Given the description of an element on the screen output the (x, y) to click on. 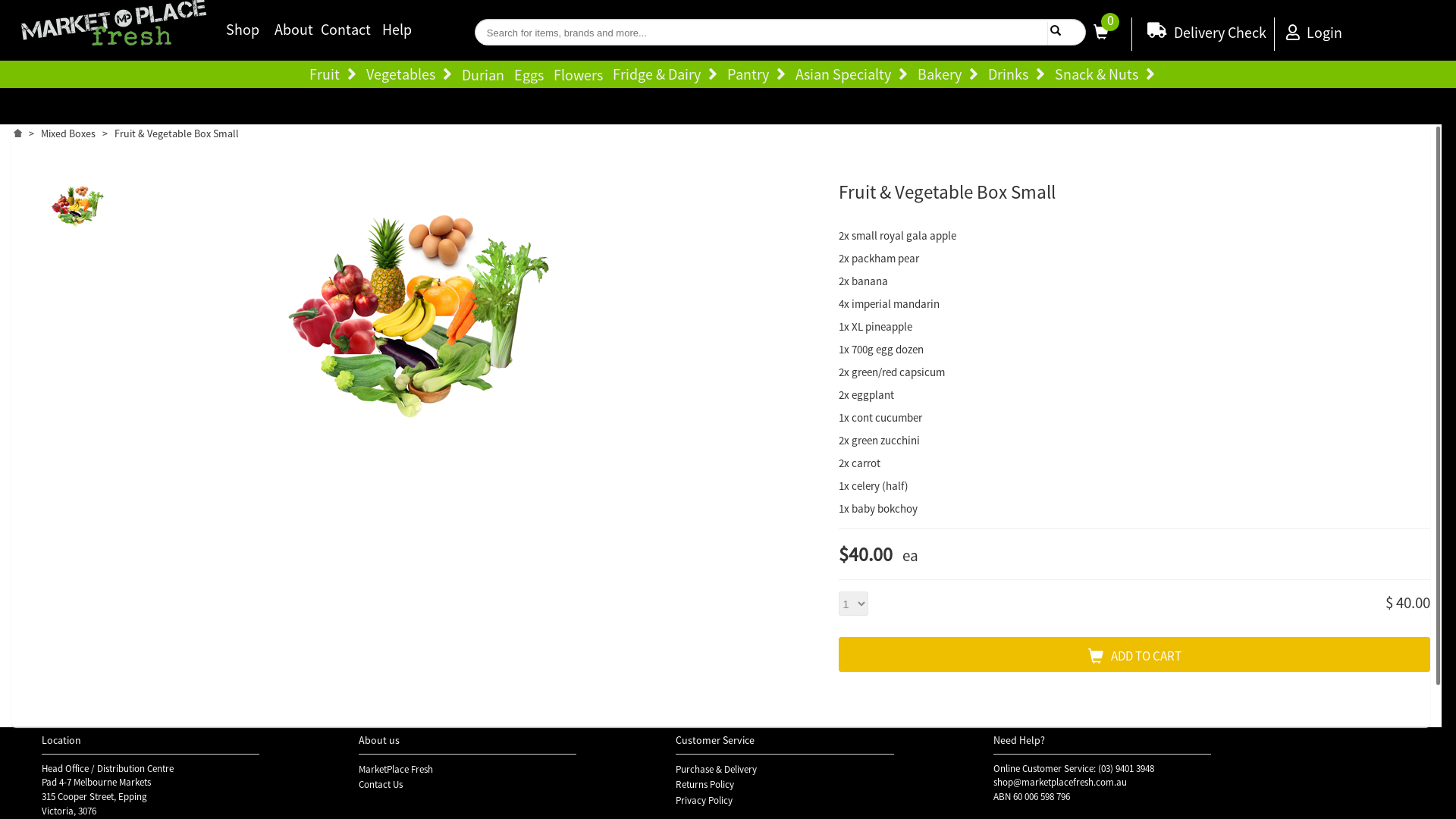
Durian Element type: text (486, 73)
Shop Element type: text (242, 28)
Purchase & Delivery Element type: text (715, 768)
shop@marketplacefresh.com.au Element type: text (1059, 781)
Vegetables Element type: text (411, 75)
Fruit & Vegetable Box Small Element type: hover (77, 206)
ADD TO CART Element type: text (1133, 654)
About Element type: text (293, 28)
Bakery Element type: text (951, 75)
Login Element type: text (1314, 31)
Help Element type: text (396, 28)
Home Element type: hover (17, 131)
Snack & Nuts Element type: text (1107, 75)
MarketPlace Fresh Element type: text (395, 768)
Privacy Policy Element type: text (703, 799)
Returns Policy Element type: text (704, 784)
Asian Specialty Element type: text (854, 75)
Fruit Element type: text (336, 75)
Contact Element type: text (345, 28)
Flowers Element type: text (581, 73)
Pantry Element type: text (759, 75)
Picture of Fruit & Vegetable Box Small Element type: hover (77, 203)
Mixed Boxes Element type: text (67, 133)
Picture of Fruit & Vegetable Box Small Element type: hover (418, 302)
Eggs Element type: text (532, 73)
Drinks Element type: text (1019, 75)
(03) 9401 3948 Element type: text (1126, 768)
Contact Us Element type: text (380, 784)
Fridge & Dairy Element type: text (668, 75)
